Given the description of an element on the screen output the (x, y) to click on. 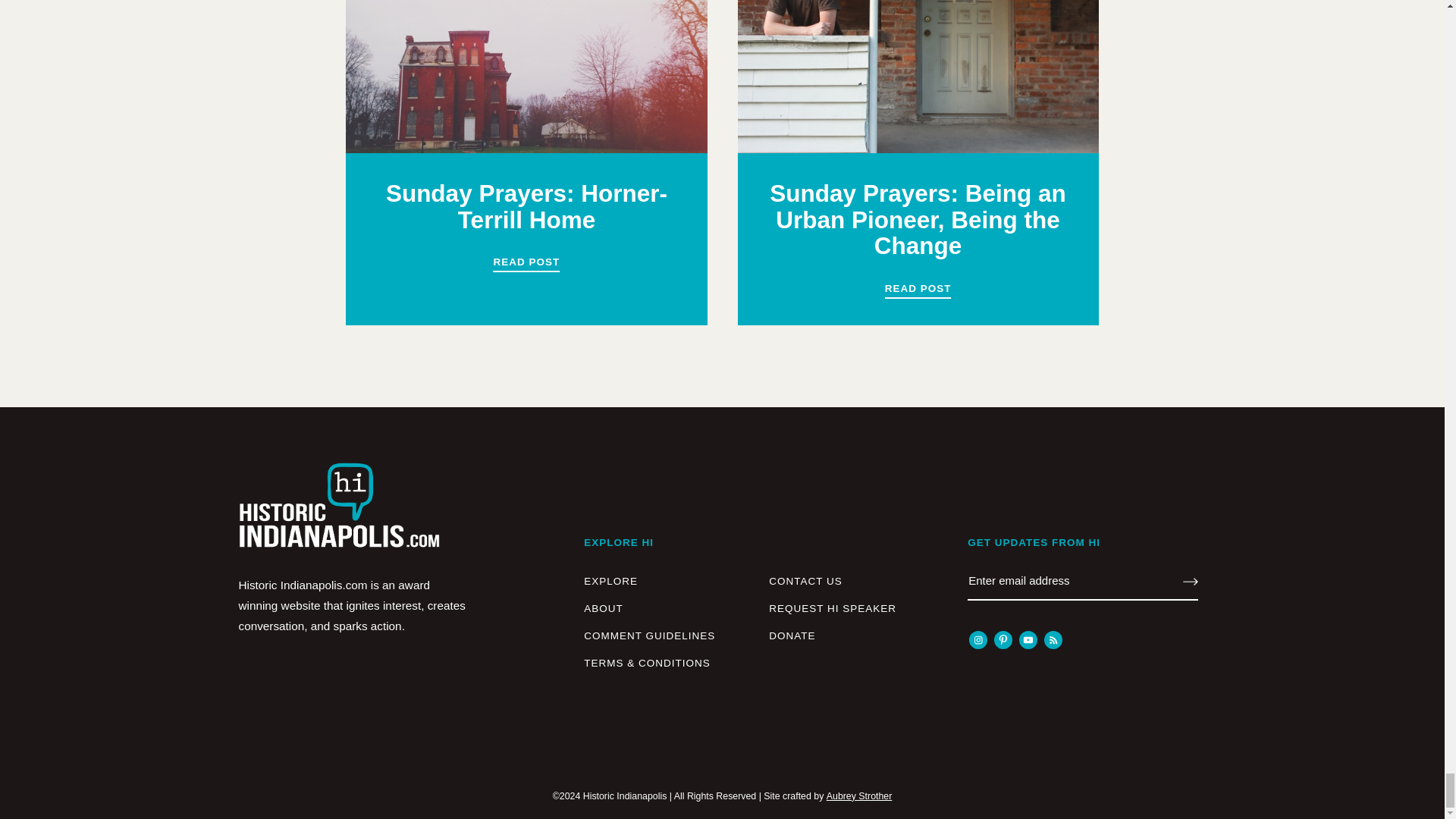
Historic Indianapolis (338, 518)
